Given the description of an element on the screen output the (x, y) to click on. 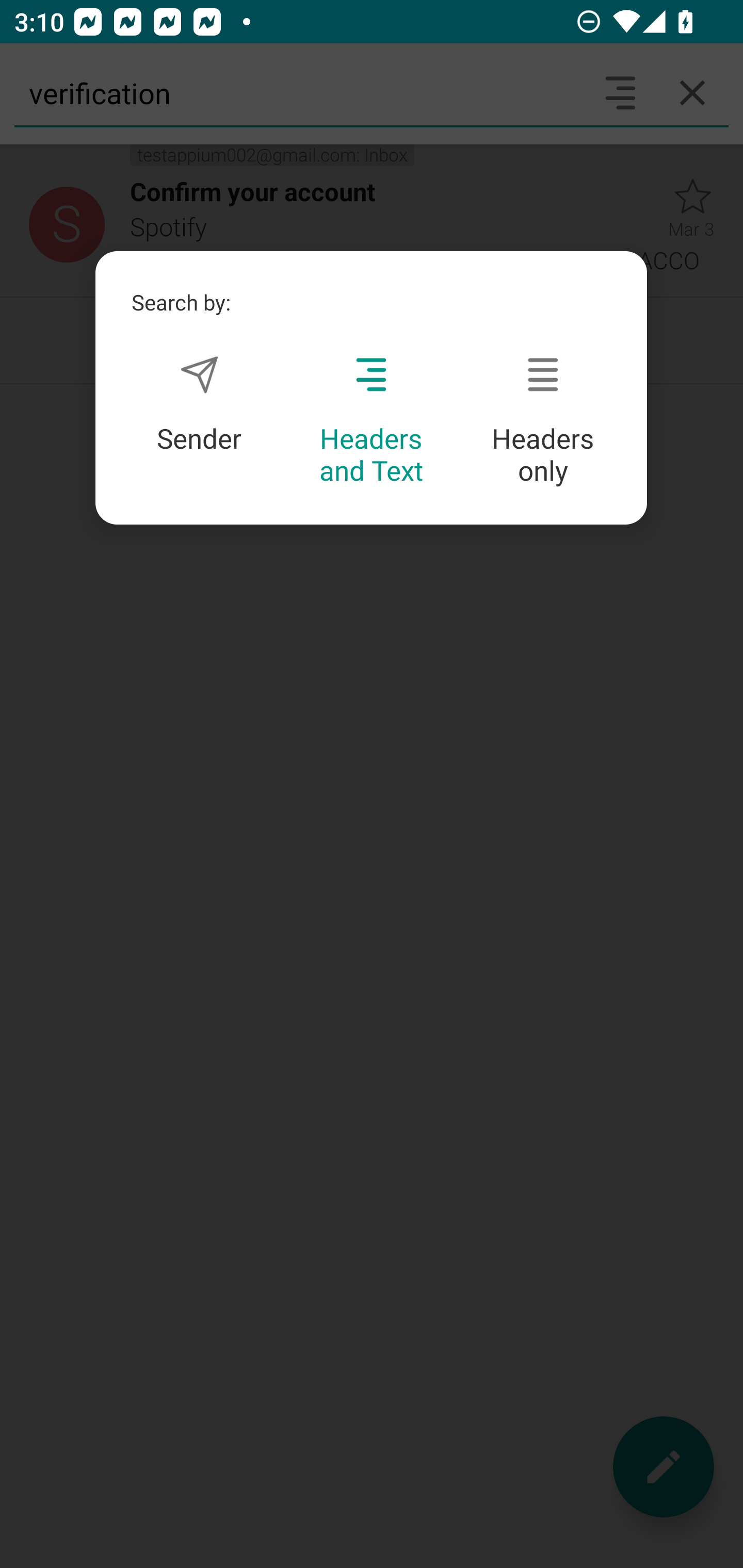
Sender (199, 404)
Headers and Text (371, 420)
Headers only (542, 420)
